Given the description of an element on the screen output the (x, y) to click on. 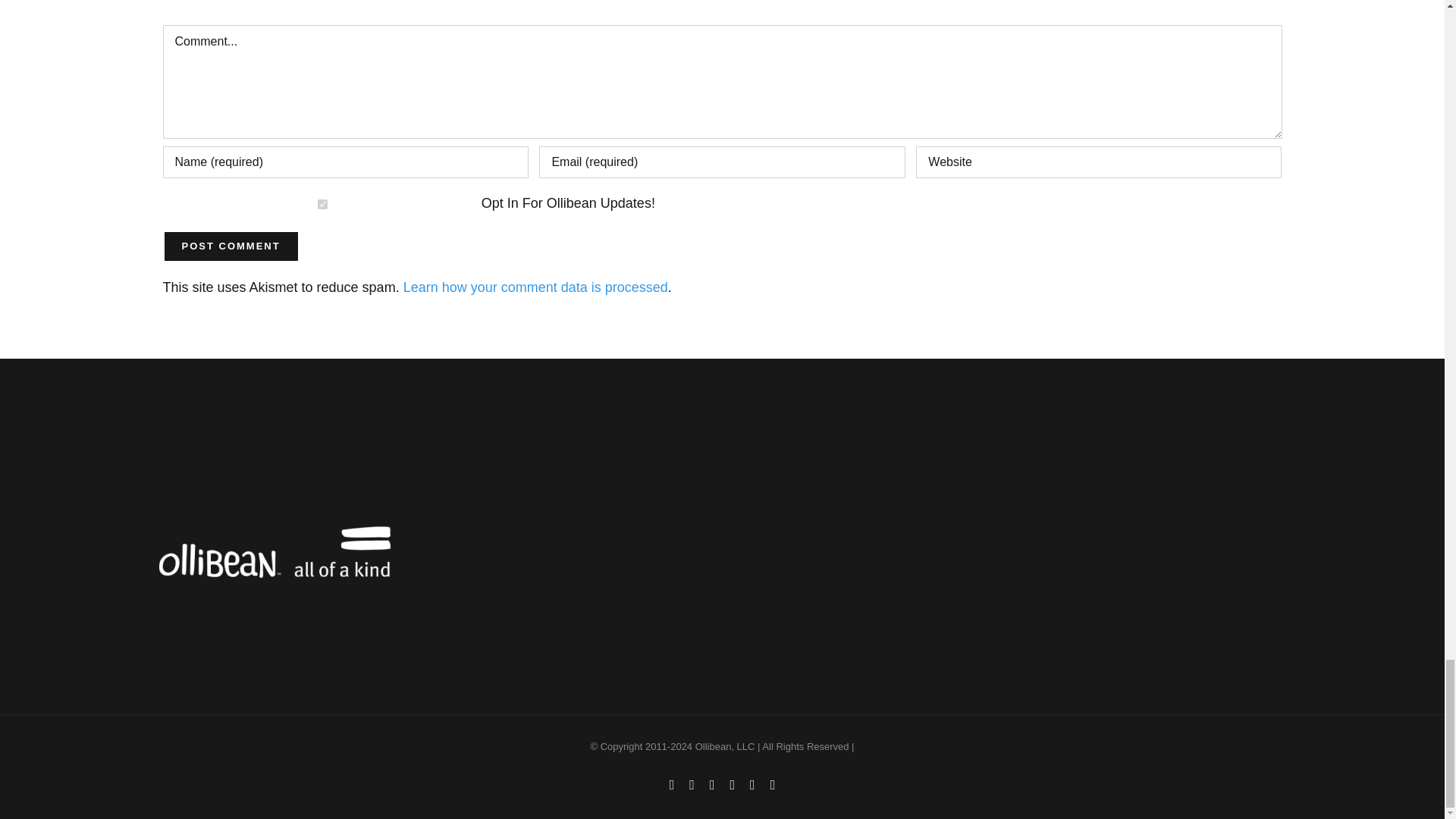
Post Comment (229, 246)
1 (322, 204)
